Given the description of an element on the screen output the (x, y) to click on. 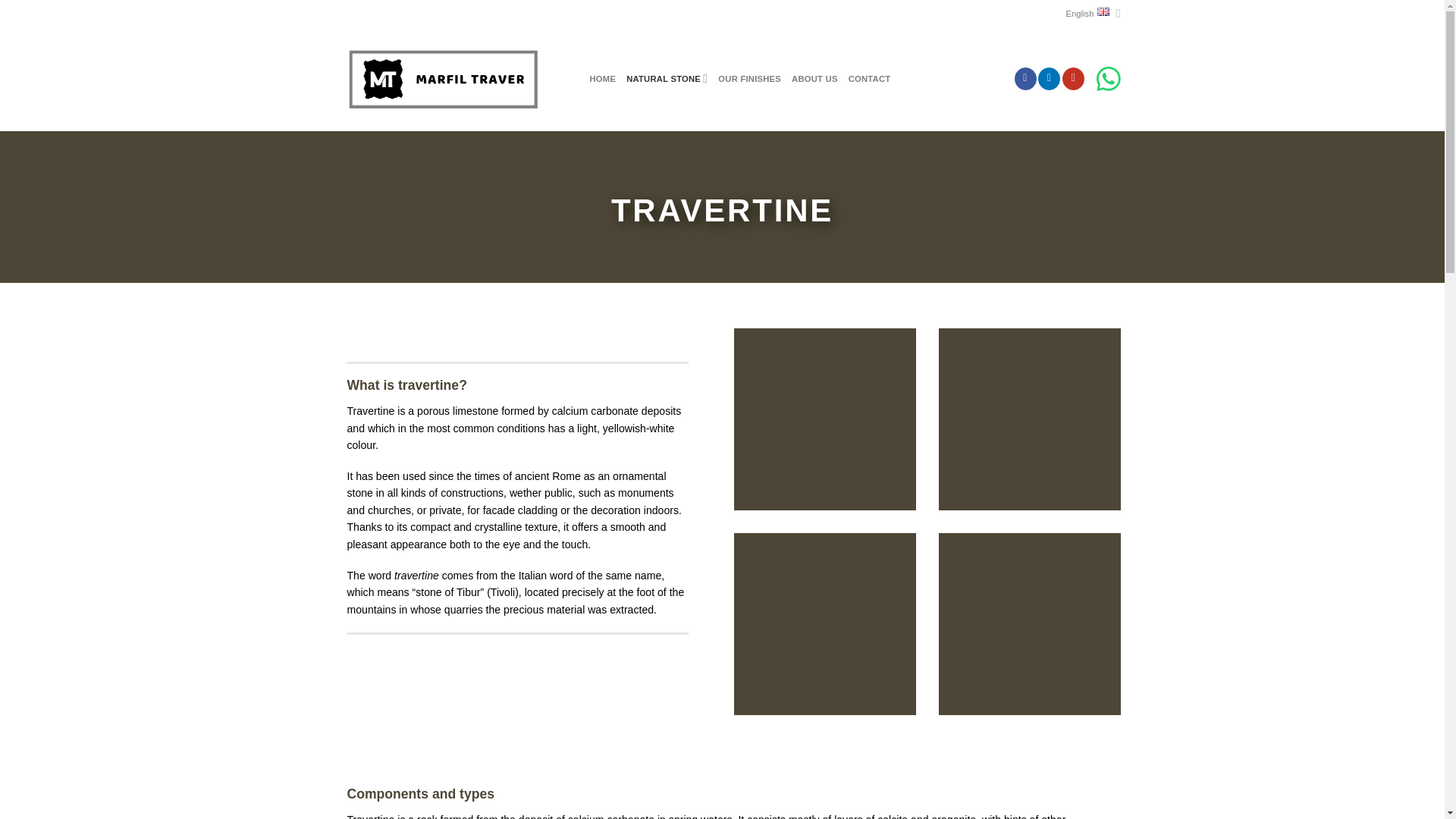
Follow on Facebook (1025, 78)
HOME (602, 78)
Follow on YouTube (1073, 78)
Follow on LinkedIn (1048, 78)
English (1093, 13)
ABOUT US (815, 78)
NATURAL STONE (666, 78)
CONTACT (869, 78)
OUR FINISHES (748, 78)
